Given the description of an element on the screen output the (x, y) to click on. 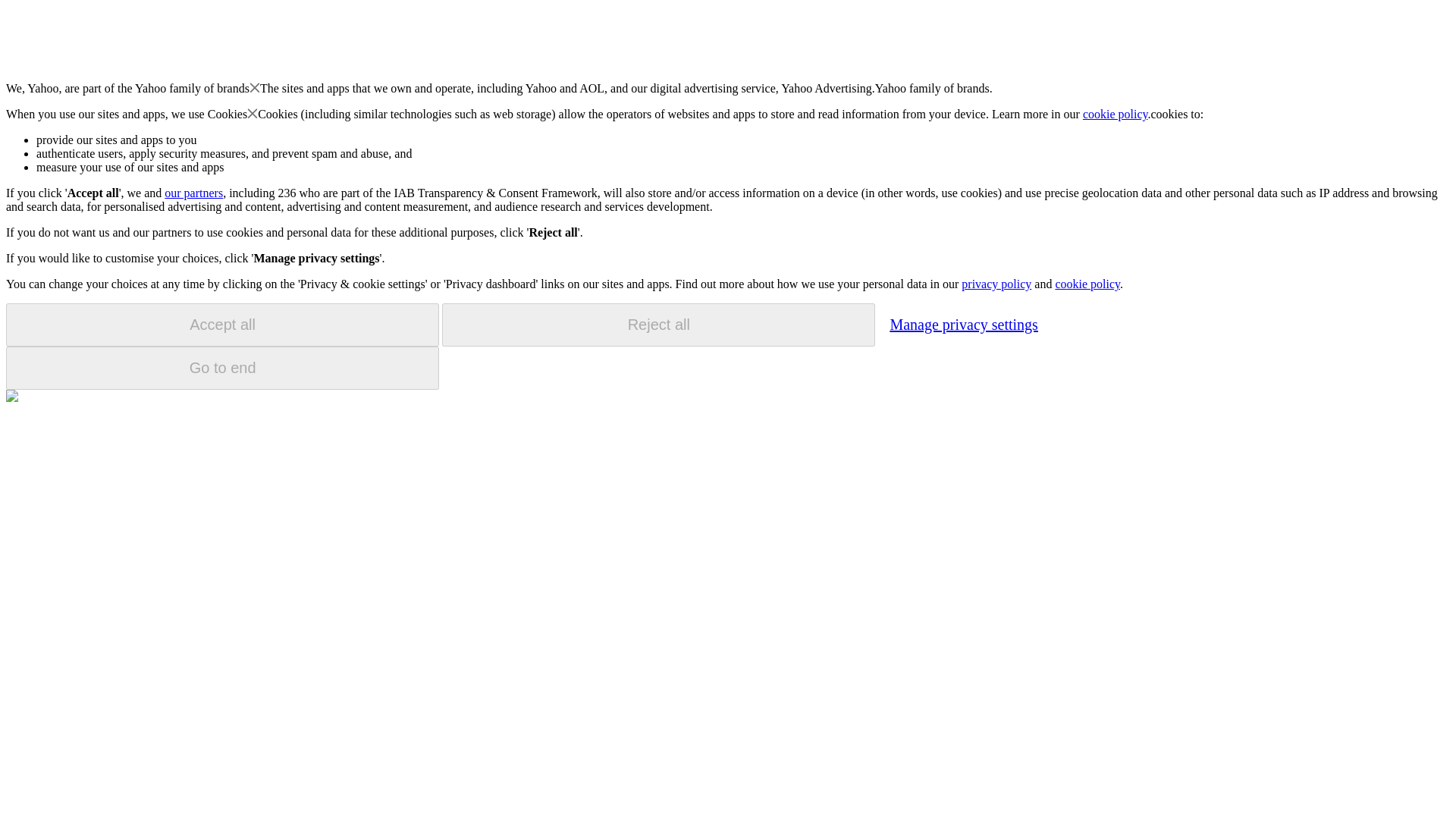
Go to end (222, 367)
cookie policy (1115, 113)
Reject all (658, 324)
Manage privacy settings (963, 323)
our partners (193, 192)
privacy policy (995, 283)
cookie policy (1086, 283)
Accept all (222, 324)
